Given the description of an element on the screen output the (x, y) to click on. 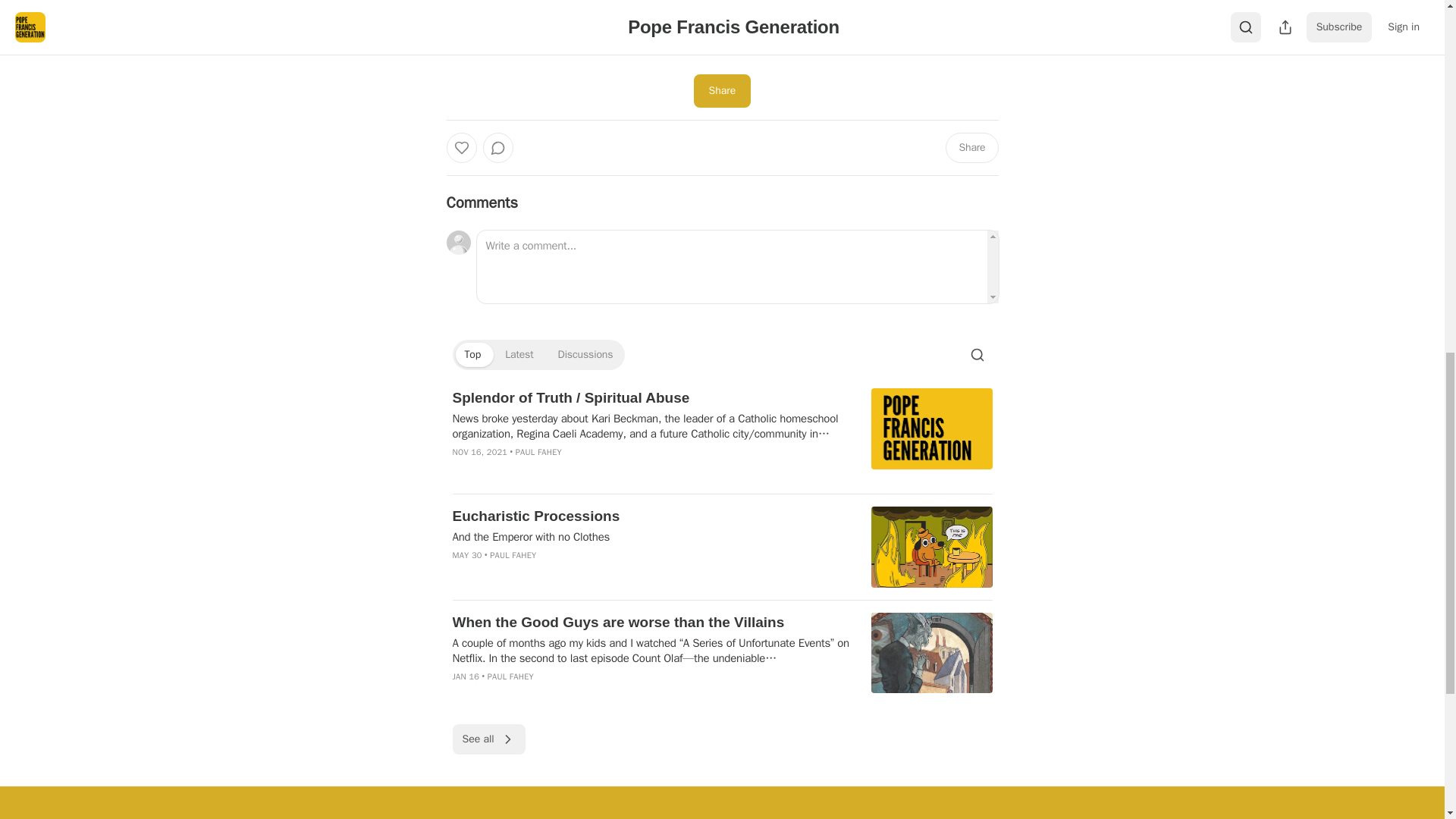
Share (970, 147)
www.practicalkerygma.com (705, 47)
Share (722, 90)
Top (471, 354)
